Given the description of an element on the screen output the (x, y) to click on. 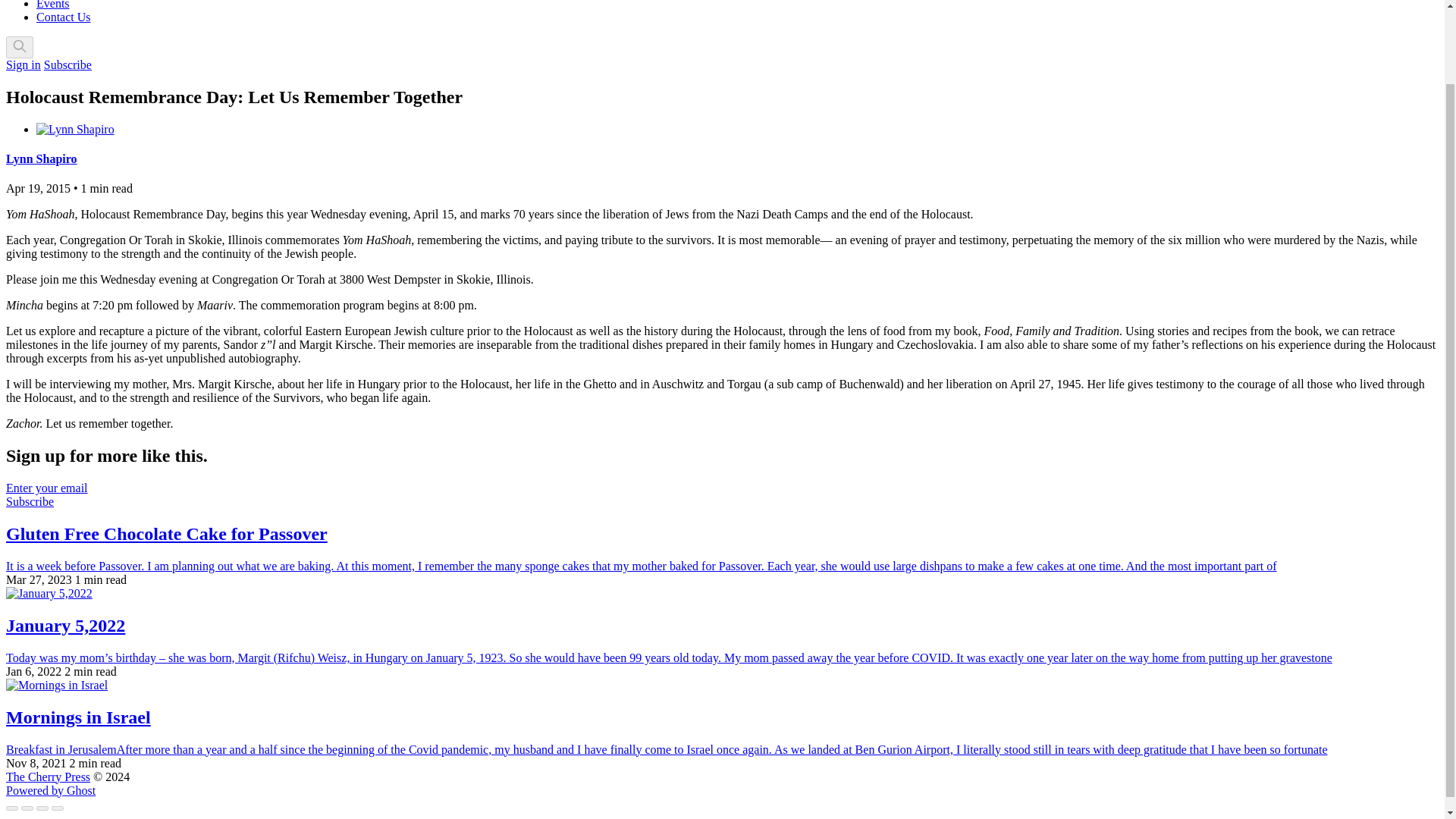
Powered by Ghost (50, 789)
Share (27, 807)
Contact Us (63, 16)
Toggle fullscreen (42, 807)
Lynn Shapiro (41, 158)
Sign in (22, 64)
Subscribe (67, 64)
The Cherry Press (47, 776)
Events (52, 4)
